Given the description of an element on the screen output the (x, y) to click on. 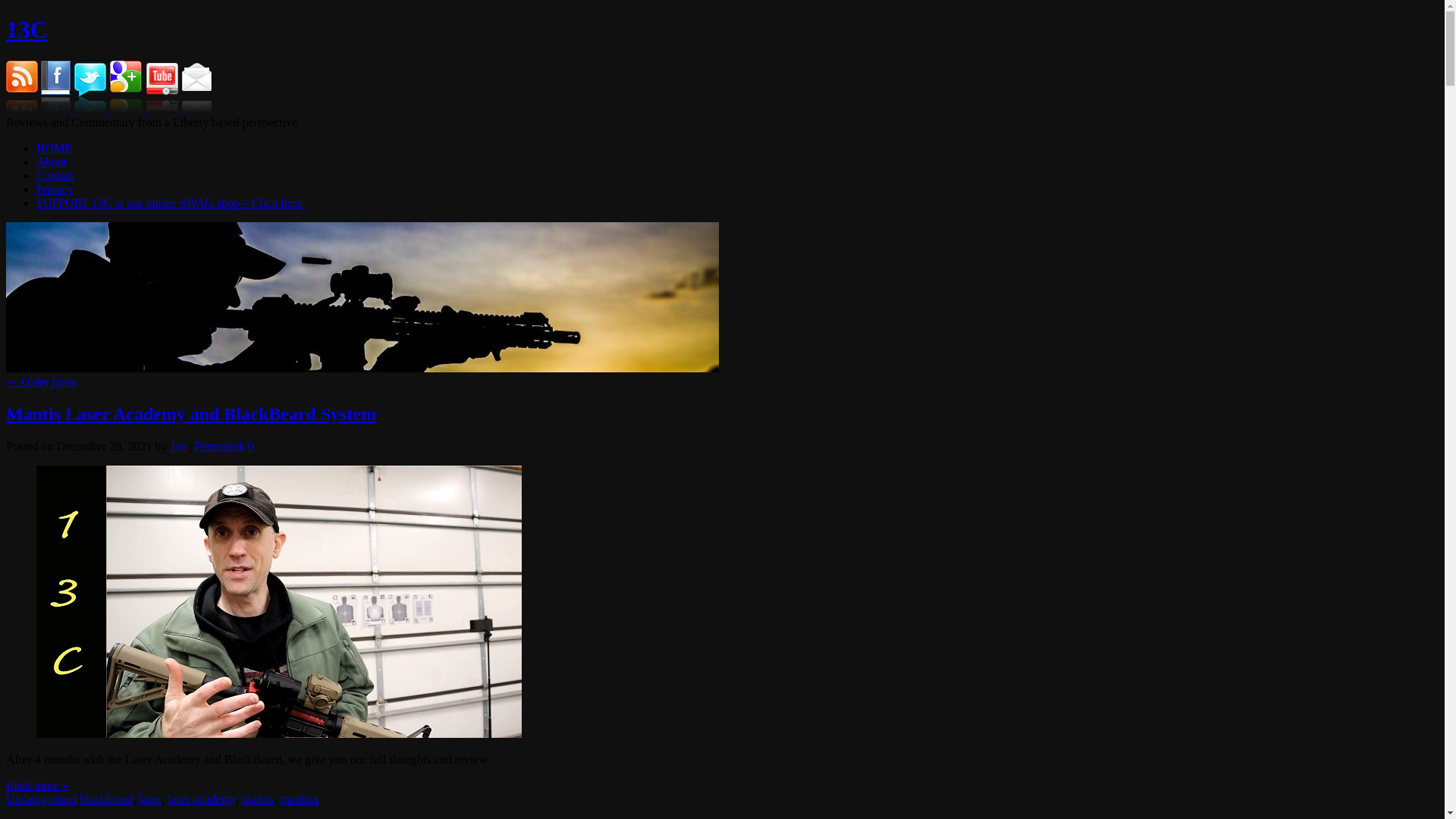
0 Element type: text (250, 445)
13C Element type: text (26, 29)
Permalink Element type: text (219, 445)
laser academy Element type: text (201, 798)
Joe Element type: text (177, 445)
Uncategorized Element type: text (41, 798)
blackbeard Element type: text (105, 798)
Google+ Element type: hover (127, 108)
Privacy Element type: text (54, 188)
About Element type: text (51, 161)
Facebook Element type: hover (57, 108)
mantis Element type: text (257, 798)
HOME Element type: text (54, 147)
laser Element type: text (149, 798)
YouTube Element type: hover (163, 108)
mantisx Element type: text (299, 798)
RSS Feed Element type: hover (21, 108)
Contact Element type: text (55, 175)
Twitter Element type: hover (91, 108)
Mantis Laser Academy and BlackBeard System Element type: text (191, 413)
Newsletter Element type: hover (196, 108)
